Given the description of an element on the screen output the (x, y) to click on. 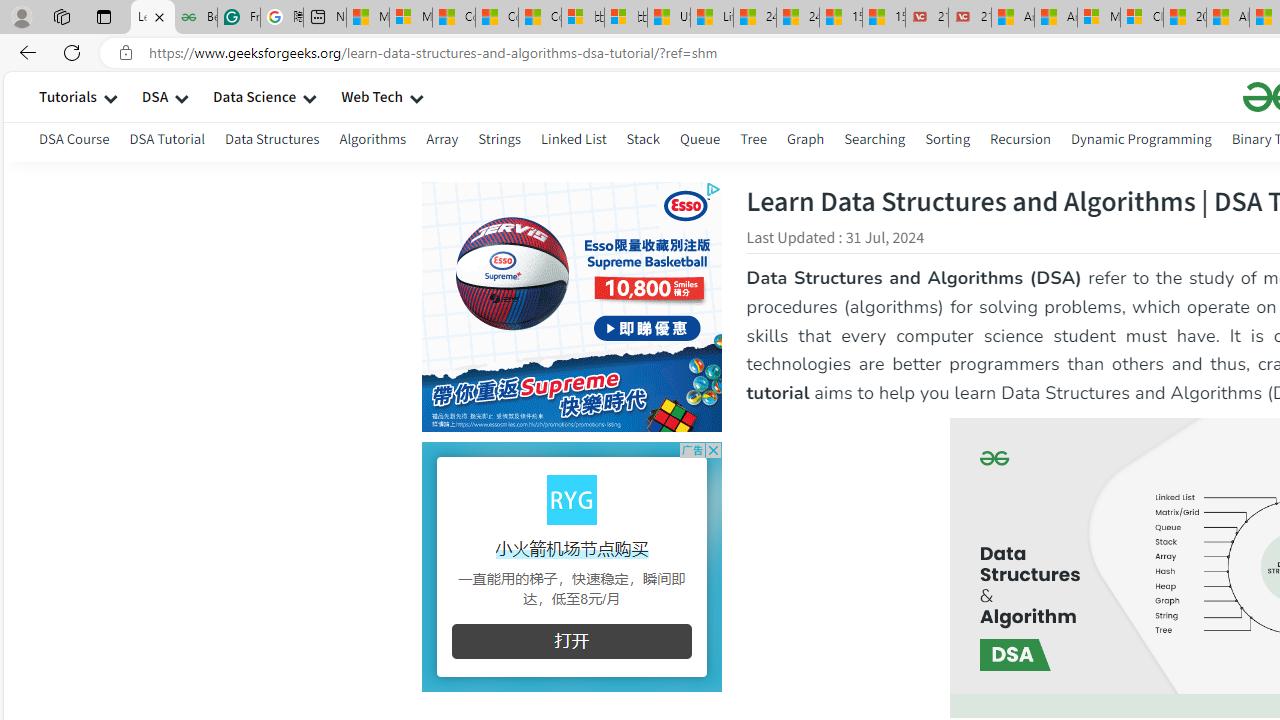
Data Science (254, 96)
Linked List (572, 142)
Dynamic Programming (1140, 142)
Graph (804, 138)
20 Ways to Boost Your Protein Intake at Every Meal (1184, 17)
15 Ways Modern Life Contradicts the Teachings of Jesus (883, 17)
Searching (875, 142)
Queue (699, 138)
Free AI Writing Assistance for Students | Grammarly (238, 17)
